Given the description of an element on the screen output the (x, y) to click on. 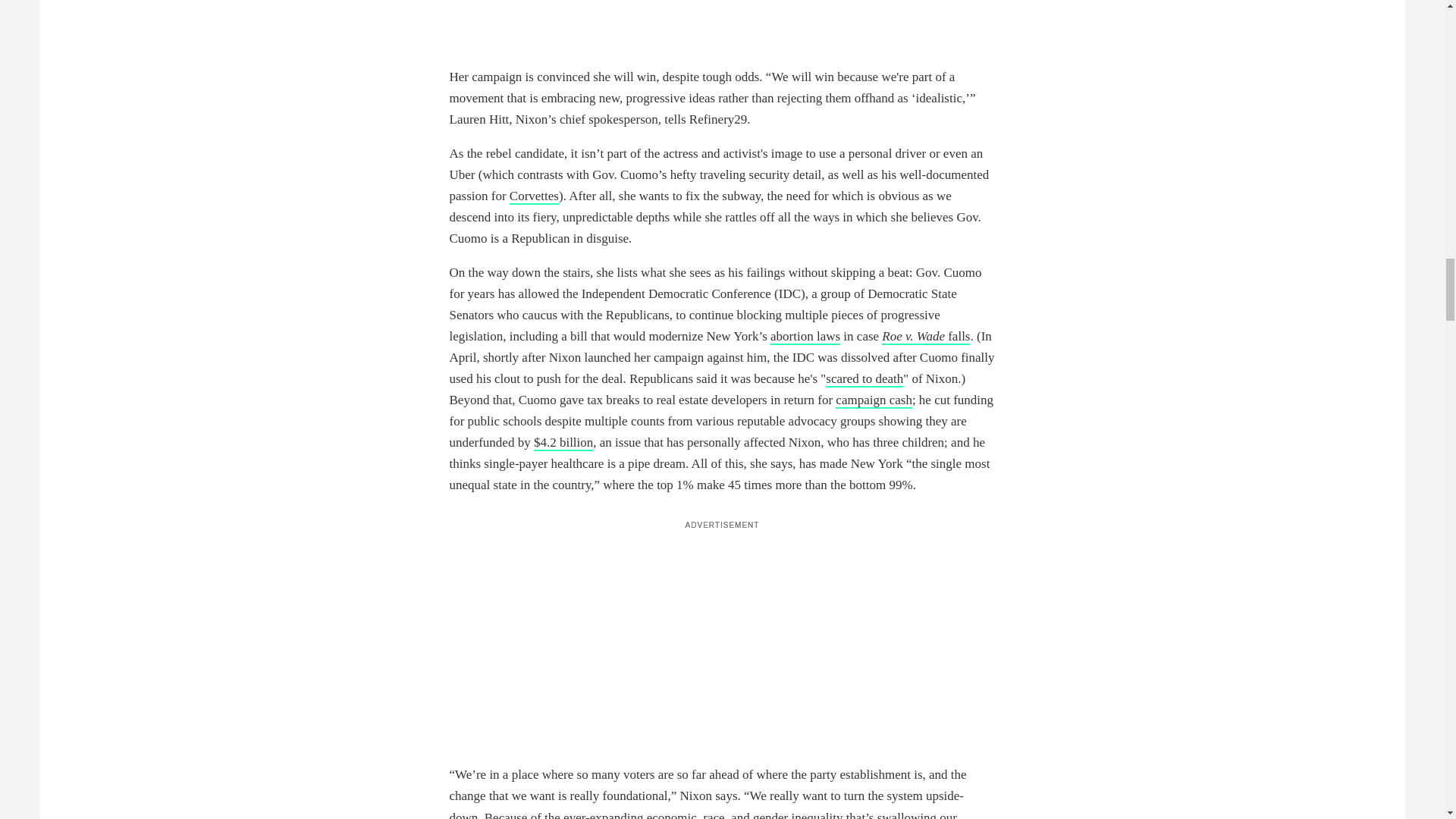
Roe v. Wade falls (925, 336)
scared to death (863, 379)
Corvettes (534, 196)
campaign cash (873, 400)
abortion laws (805, 336)
